Given the description of an element on the screen output the (x, y) to click on. 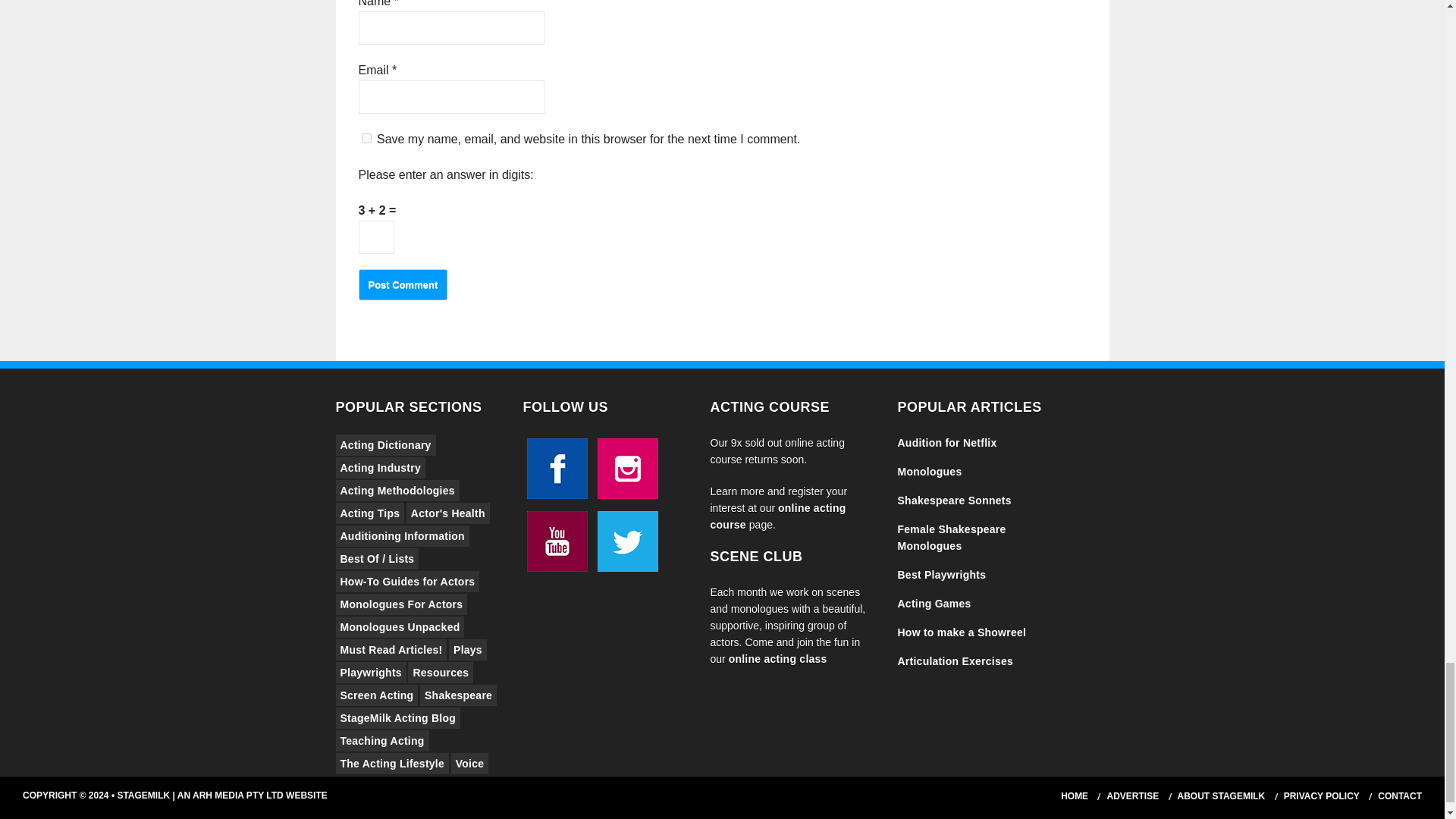
yes (366, 138)
Post Comment (402, 284)
